Given the description of an element on the screen output the (x, y) to click on. 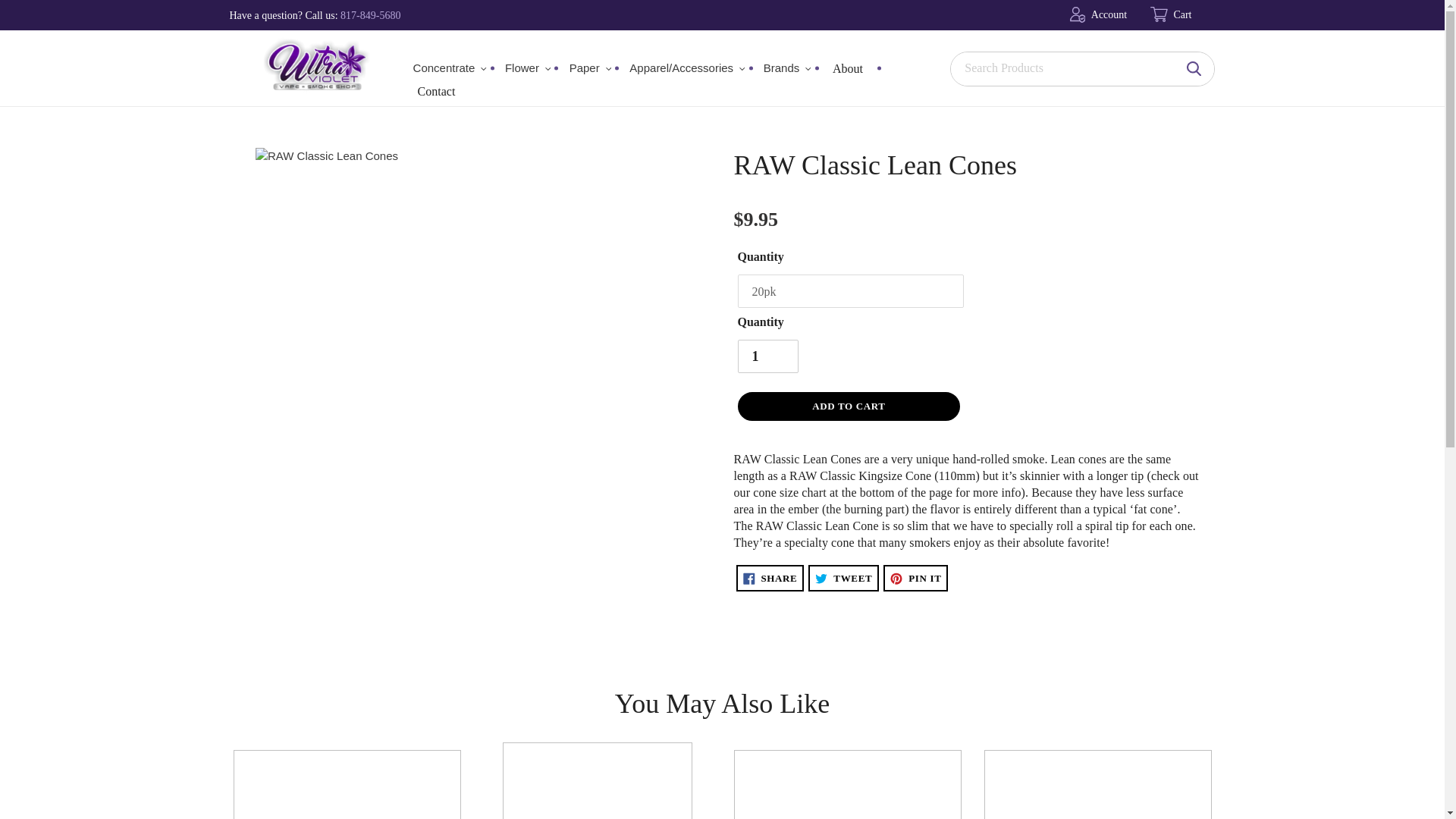
Account (1111, 14)
Cart (1183, 14)
817-849-5680 (370, 15)
Flower (528, 68)
Paper (591, 68)
1 (766, 356)
Concentrate (450, 68)
Contact (440, 91)
About (852, 67)
Brands (786, 68)
